Given the description of an element on the screen output the (x, y) to click on. 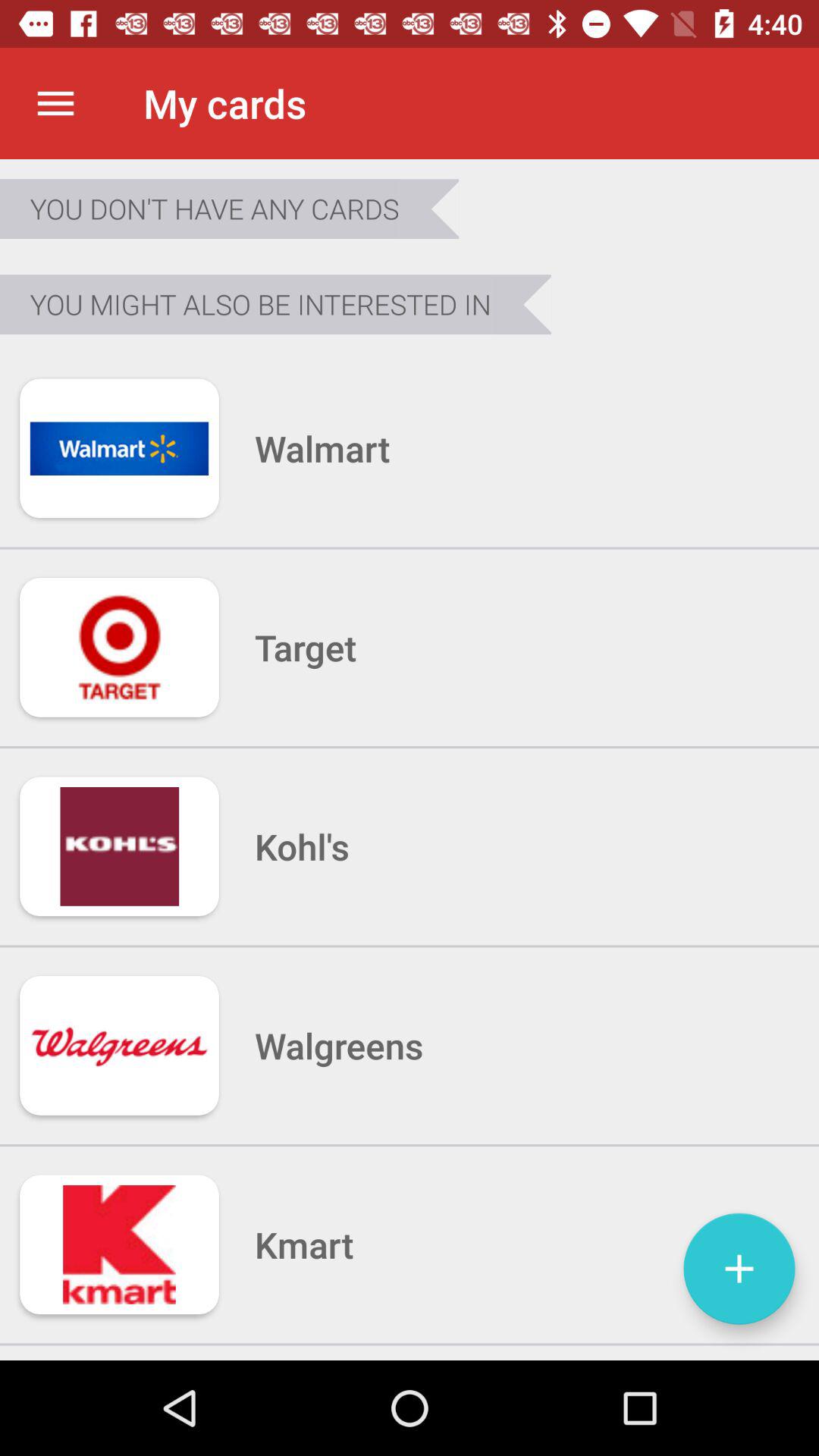
turn off item next to my cards (55, 103)
